Given the description of an element on the screen output the (x, y) to click on. 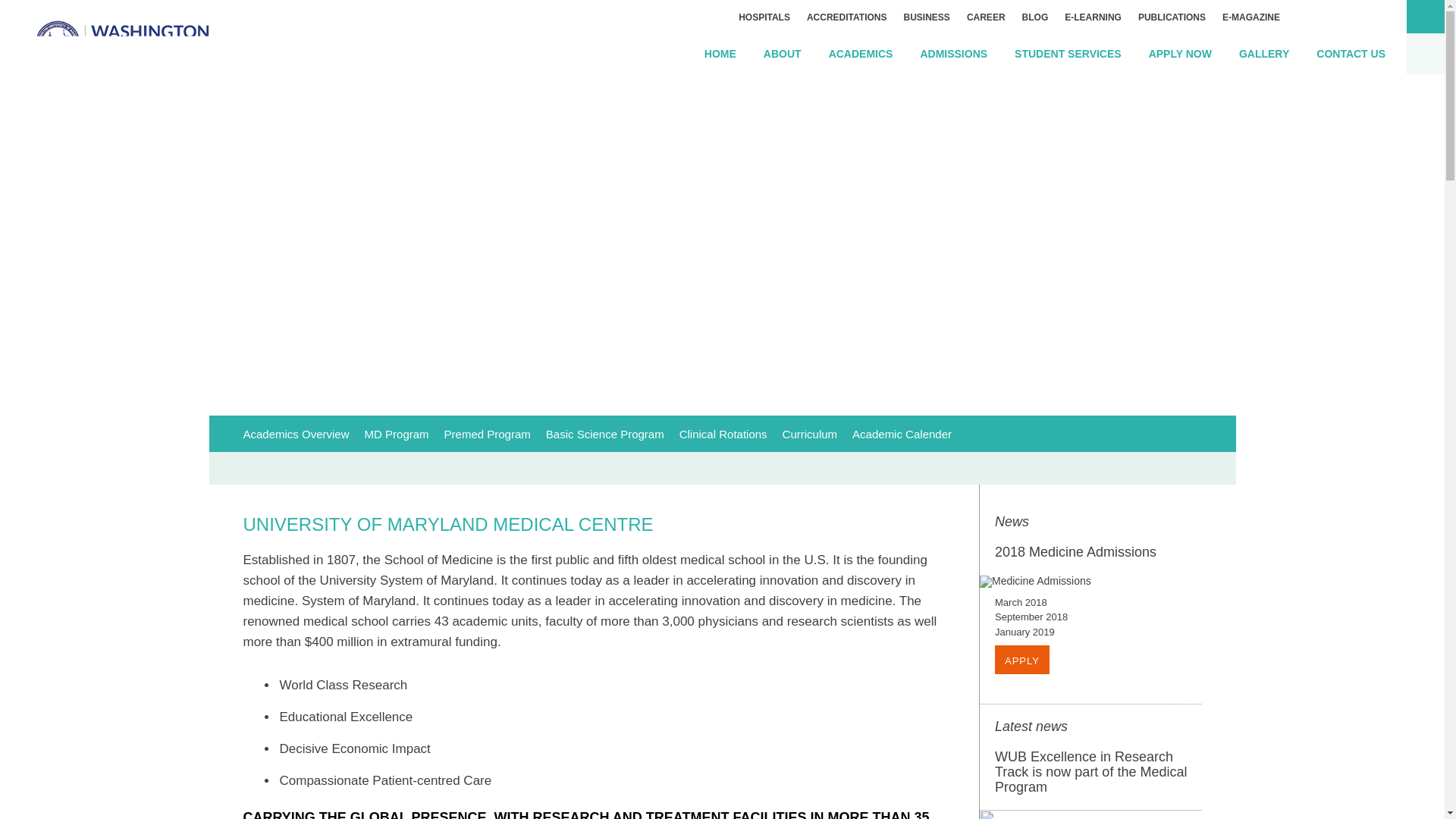
BUSINESS (926, 17)
HOSPITALS (764, 17)
ABOUT (782, 54)
E-MAGAZINE (1251, 17)
HOME (720, 54)
BLOG (1035, 17)
PUBLICATIONS (1172, 17)
ADMISSIONS (953, 54)
STUDENT SERVICES (1067, 54)
Home (720, 54)
E-LEARNING (1093, 17)
ACADEMICS (860, 54)
